Given the description of an element on the screen output the (x, y) to click on. 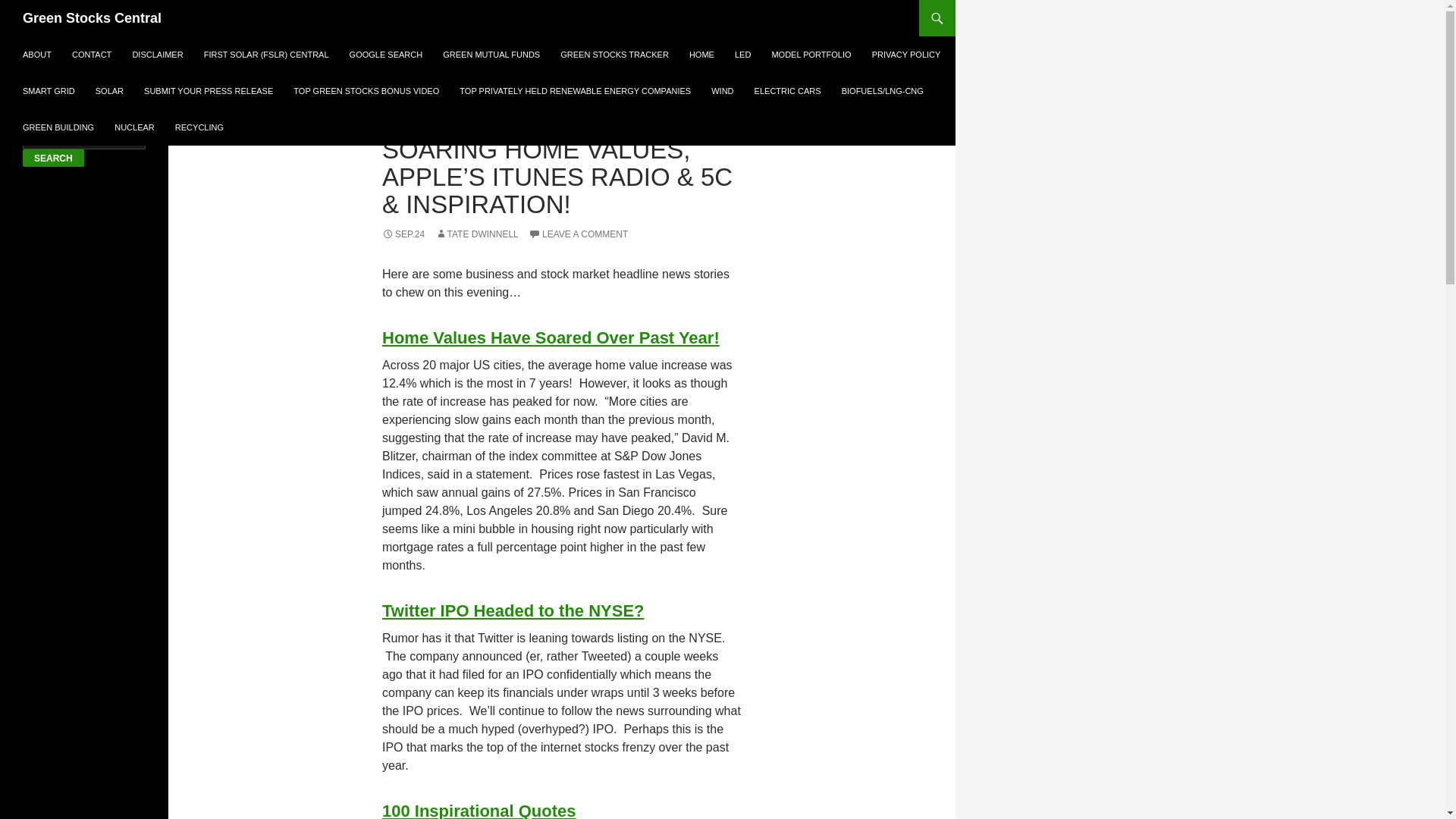
LED (742, 54)
GREEN STOCKS TRACKER (614, 54)
GOOGLE SEARCH (386, 54)
SOLAR (108, 90)
SUBMIT YOUR PRESS RELEASE (208, 90)
PRIVACY POLICY (906, 54)
Twitter IPO Headed to the NYSE? (513, 610)
Green Stocks Central (92, 18)
ELECTRIC CARS (787, 90)
DISCLAIMER (157, 54)
